Given the description of an element on the screen output the (x, y) to click on. 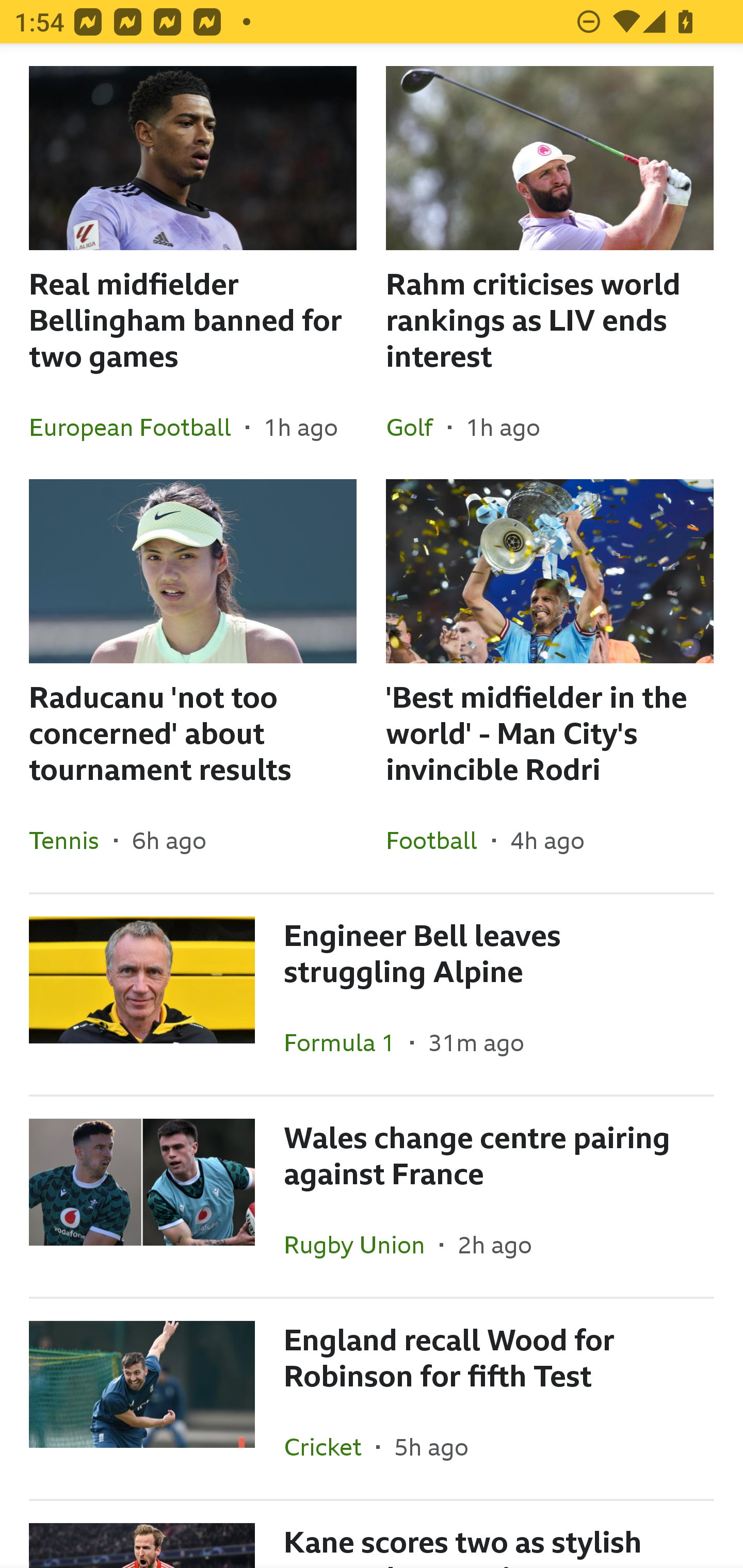
European Football In the section European Football (136, 426)
Golf In the section Golf (416, 426)
Tennis In the section Tennis (70, 840)
Football In the section Football (438, 840)
Formula 1 In the section Formula 1 (346, 1042)
Rugby Union In the section Rugby Union (361, 1244)
Cricket In the section Cricket (329, 1446)
